Given the description of an element on the screen output the (x, y) to click on. 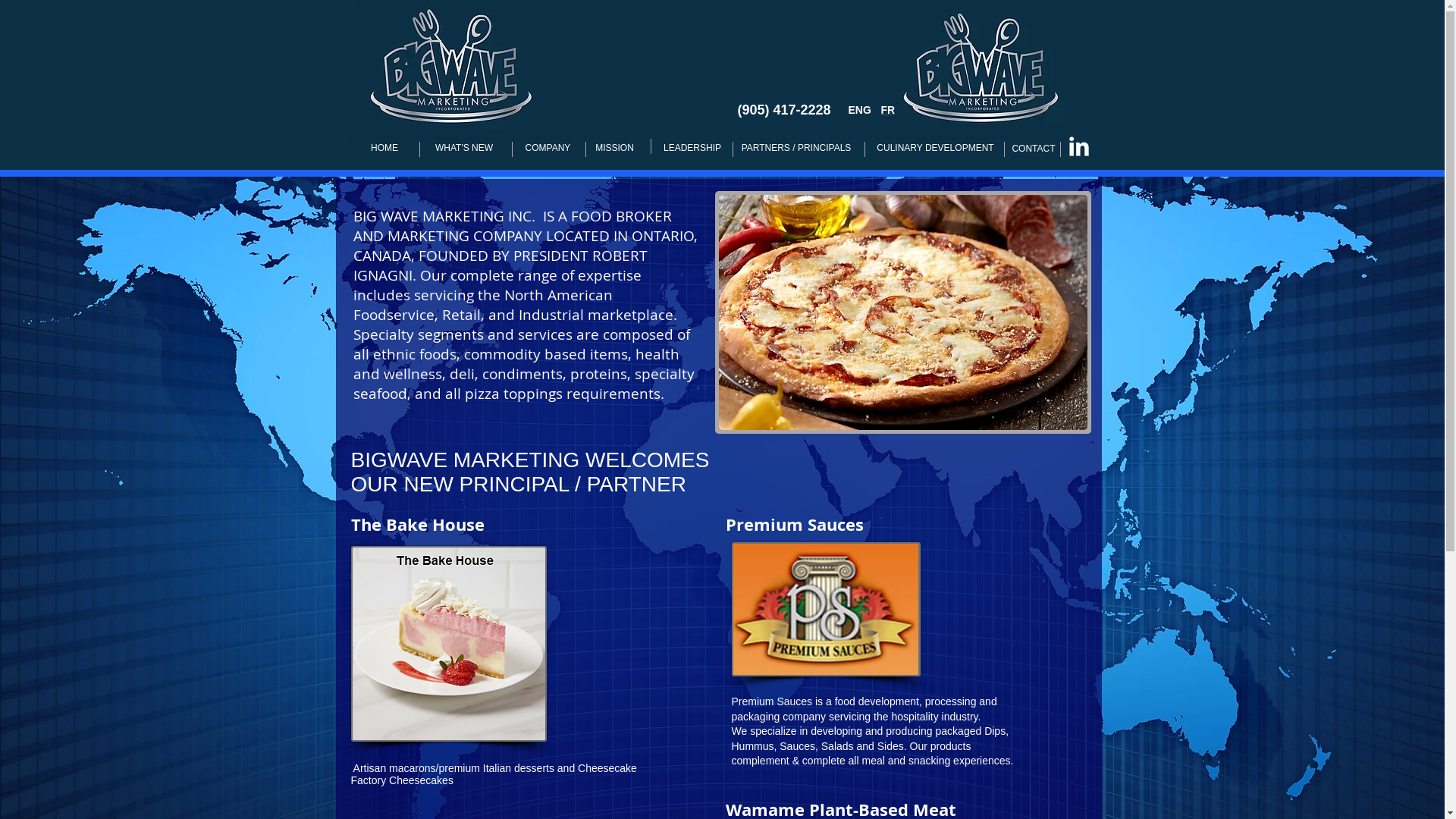
COMPANY Element type: text (547, 147)
HOME Element type: text (383, 147)
FR Element type: text (888, 109)
UPPER CRUST  Element type: hover (448, 643)
CULINARY DEVELOPMENT Element type: text (934, 147)
LEADERSHIP Element type: text (691, 147)
UPPER CRUST  Element type: hover (825, 609)
PARTNERS / PRINCIPALS Element type: text (795, 147)
WHAT'S NEW Element type: text (464, 147)
Big Wave Logo Silver on Blue-350.jpg Element type: hover (981, 70)
MISSION Element type: text (614, 147)
ENG Element type: text (858, 109)
CONTACT Element type: text (1033, 148)
